Given the description of an element on the screen output the (x, y) to click on. 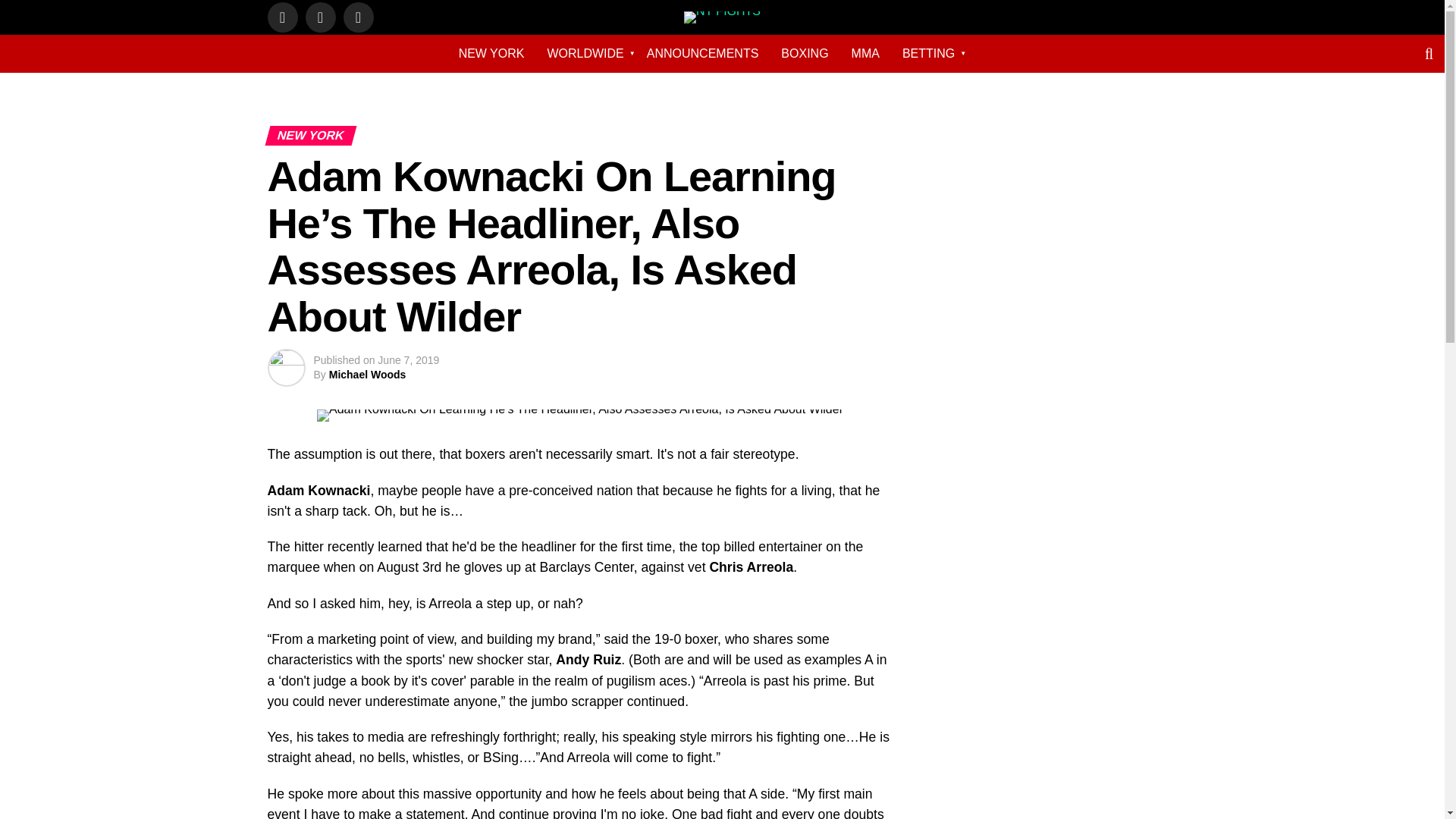
NEW YORK (490, 53)
BOXING (805, 53)
BETTING (928, 53)
WORLDWIDE (584, 53)
ANNOUNCEMENTS (702, 53)
MMA (865, 53)
